Given the description of an element on the screen output the (x, y) to click on. 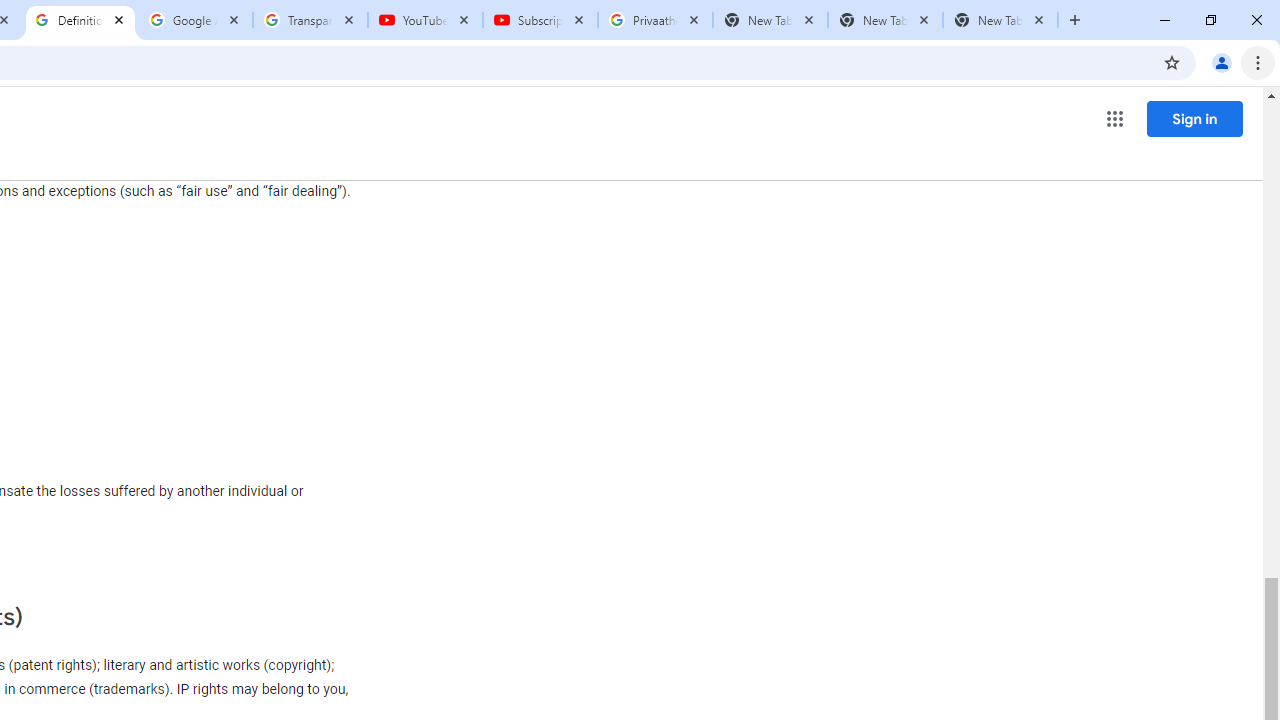
YouTube (424, 20)
Subscriptions - YouTube (539, 20)
Google apps (1114, 118)
Google Account (195, 20)
